Given the description of an element on the screen output the (x, y) to click on. 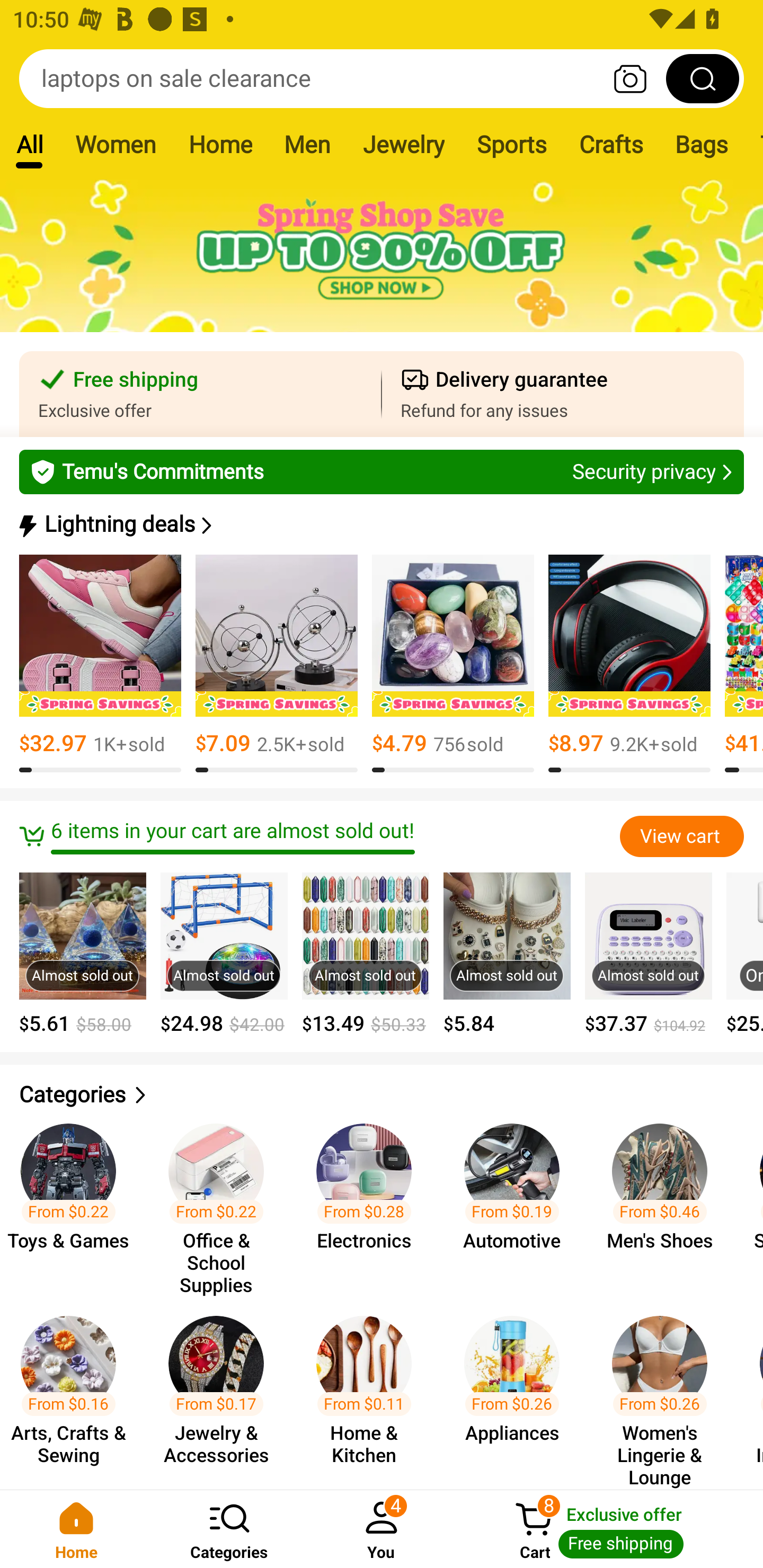
laptops on sale clearance (381, 78)
All (29, 144)
Women (115, 144)
Home (219, 144)
Men (306, 144)
Jewelry (403, 144)
Sports (511, 144)
Crafts (611, 144)
Bags (701, 144)
Free shipping Exclusive offer (200, 394)
Delivery guarantee Refund for any issues (562, 394)
Temu's Commitments (381, 471)
Lightning deals (379, 524)
$32.97 1K+￼sold 8.0 (100, 664)
$7.09 2.5K+￼sold 8.0 (276, 664)
$4.79 756￼sold 8.0 (453, 664)
$8.97 9.2K+￼sold 8.0 (629, 664)
6 items in your cart are almost sold out! (319, 836)
View cart  (681, 836)
Almost sold out $5.61 $58.00 (82, 953)
Almost sold out $24.98 $42.00 (223, 953)
Almost sold out $13.49 $50.33 (365, 953)
Almost sold out $5.84 (506, 953)
Almost sold out $37.37 $104.92 (648, 953)
Categories (381, 1094)
From $0.22 Toys & Games (74, 1199)
From $0.22 Office & School Supplies (222, 1199)
From $0.28 Electronics (369, 1199)
From $0.19 Automotive (517, 1199)
From $0.46 Men's Shoes (665, 1199)
From $0.16 Arts, Crafts & Sewing (74, 1392)
From $0.17 Jewelry & Accessories (222, 1392)
From $0.11 Home & Kitchen (369, 1392)
From $0.26 Appliances (517, 1392)
From $0.26 Women's Lingerie & Lounge (665, 1392)
Home (76, 1528)
Categories (228, 1528)
You 4 You (381, 1528)
Cart 8 Cart Exclusive offer (610, 1528)
